Given the description of an element on the screen output the (x, y) to click on. 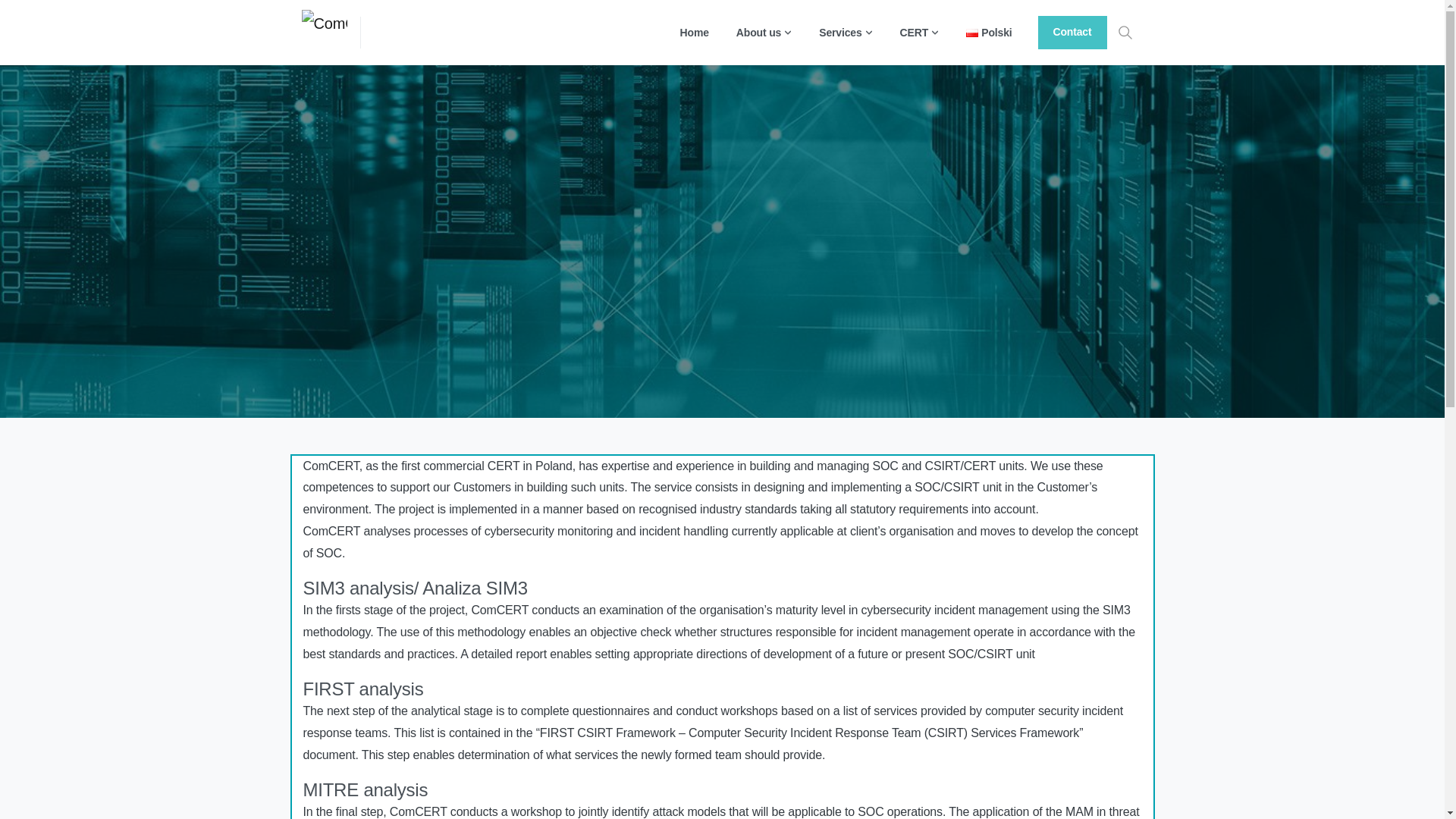
Contact (1071, 31)
Polski (988, 32)
About us (763, 32)
Services (844, 32)
CERT (918, 32)
CERT (918, 32)
Home (694, 32)
Services (844, 32)
About us (763, 32)
Polski (988, 32)
